Given the description of an element on the screen output the (x, y) to click on. 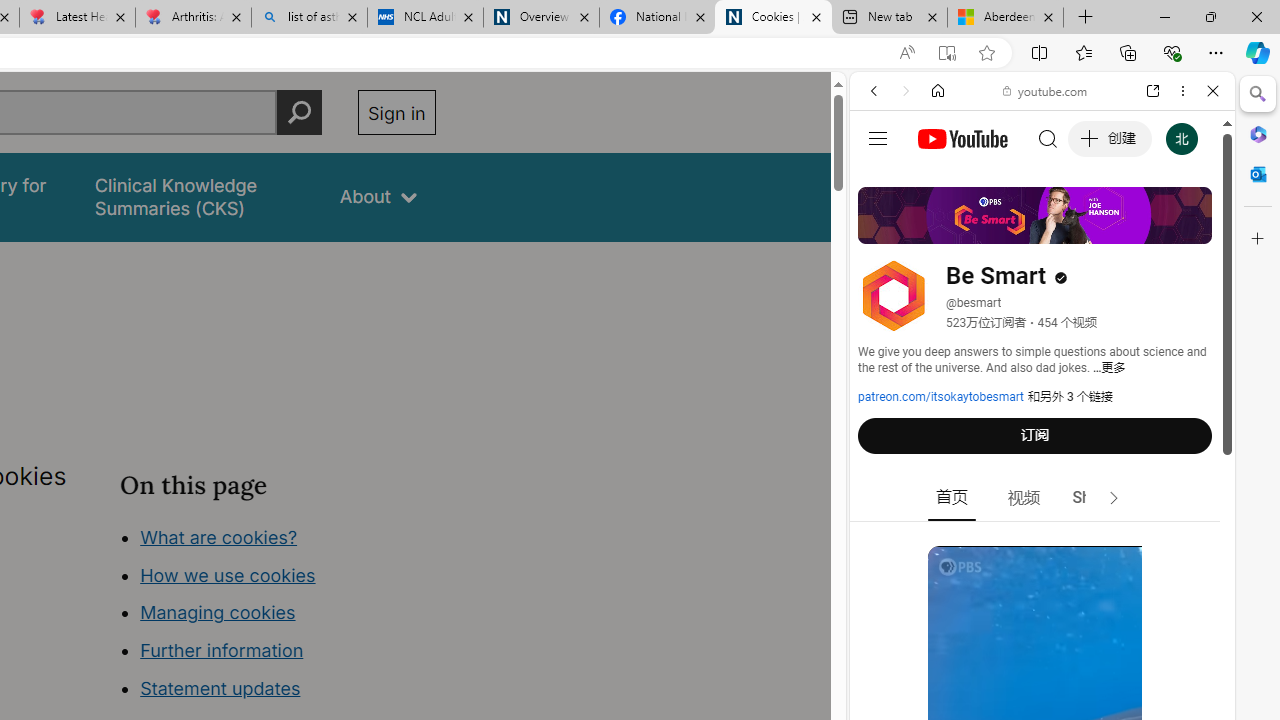
Statement updates (219, 688)
Further information (221, 650)
Google (1042, 494)
Trailer #2 [HD] (1042, 592)
Class: b_serphb (1190, 229)
